Given the description of an element on the screen output the (x, y) to click on. 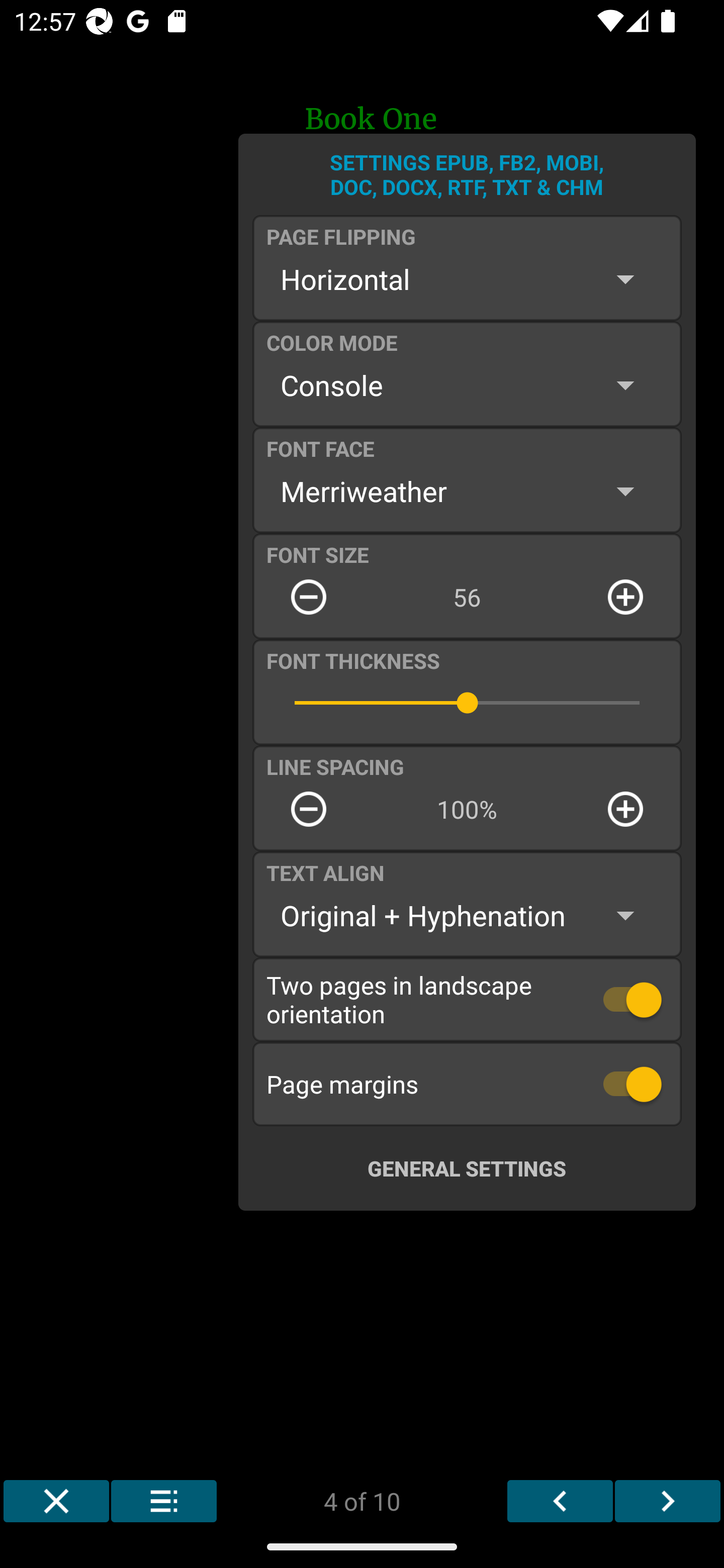
Horizontal (466, 278)
Console (466, 384)
Merriweather (466, 490)
Original + Hyphenation (466, 915)
Two pages in landscape orientation (467, 999)
Page margins (467, 1083)
GENERAL SETTINGS (466, 1167)
